Given the description of an element on the screen output the (x, y) to click on. 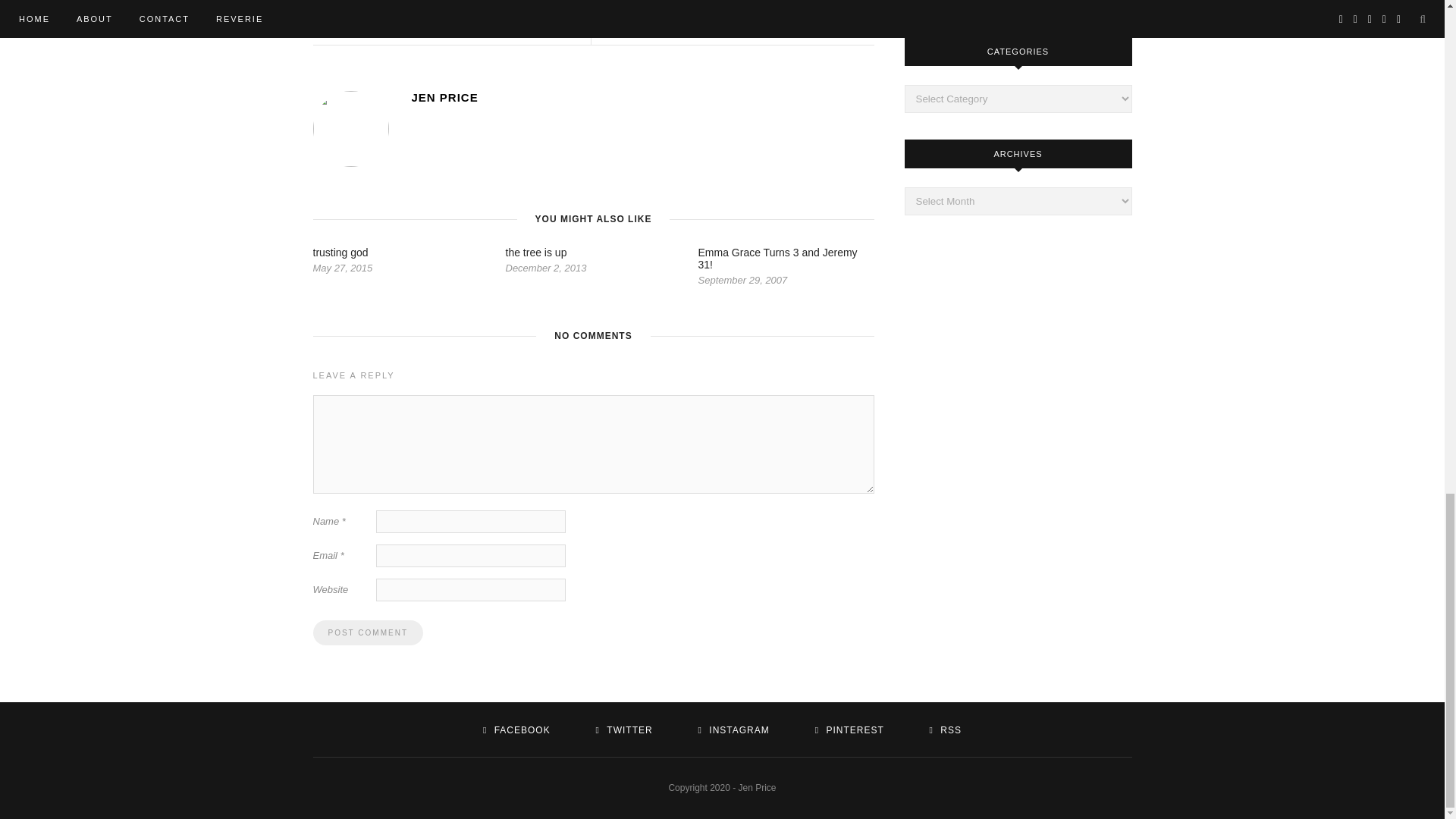
RSS (945, 729)
Posts by Jen Price (641, 97)
INSTAGRAM (734, 729)
PINTEREST (849, 729)
the tree is up (535, 252)
Post Comment (367, 632)
JEN PRICE (641, 97)
FACEBOOK (516, 729)
TWITTER (623, 729)
trusting god (340, 252)
Posts by Jen Price (736, 24)
JEN PRICE (736, 24)
Post Comment (367, 632)
Emma Grace Turns 3 and Jeremy 31! (777, 258)
